Given the description of an element on the screen output the (x, y) to click on. 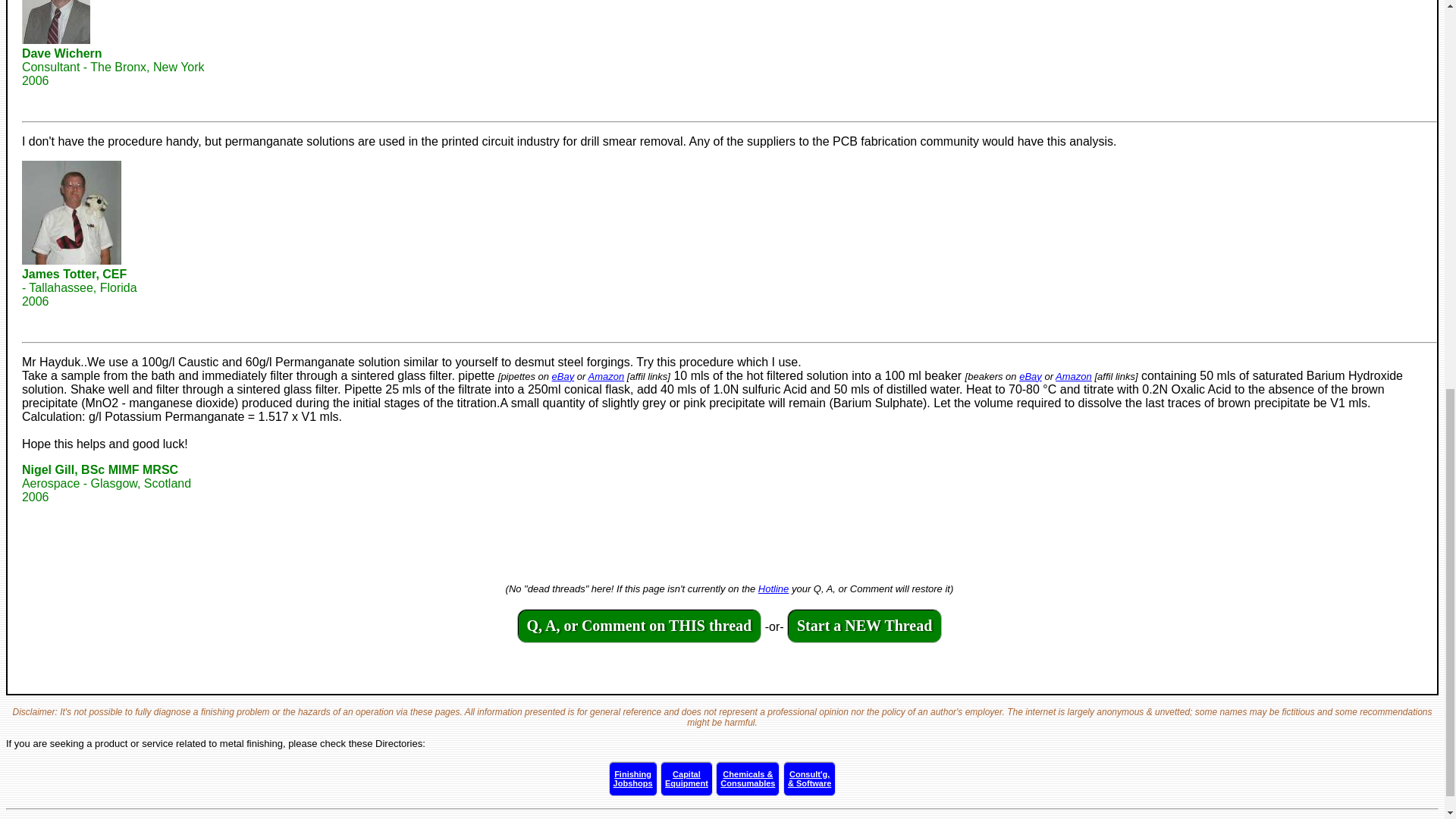
Hotline (687, 778)
Q, A, or Comment on THIS thread (773, 588)
Amazon (638, 626)
eBay (633, 778)
Amazon (1073, 376)
Start a NEW Thread (563, 376)
eBay (606, 376)
